Given the description of an element on the screen output the (x, y) to click on. 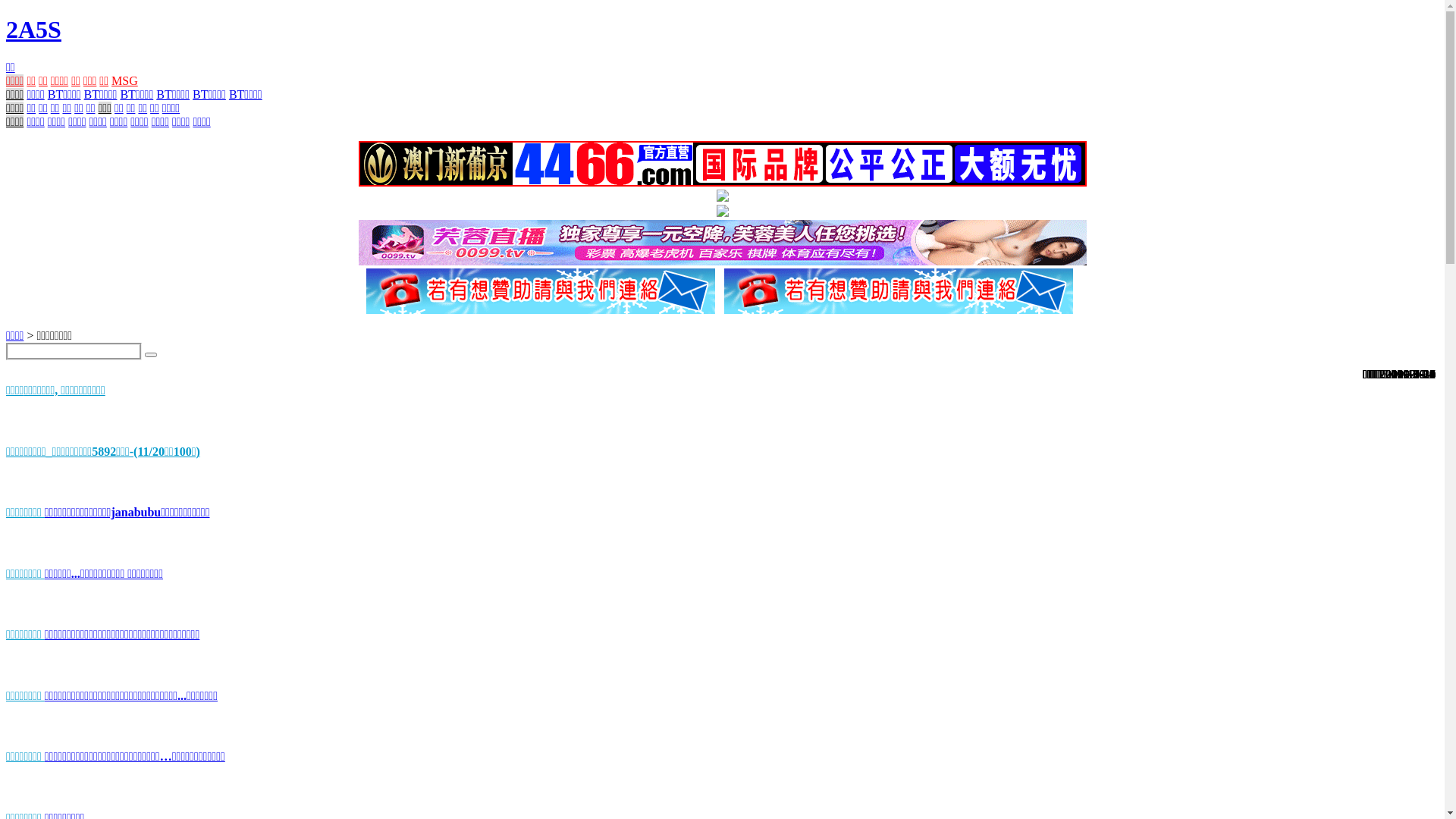
2A5S Element type: text (33, 29)
MSG Element type: text (124, 80)
